Given the description of an element on the screen output the (x, y) to click on. 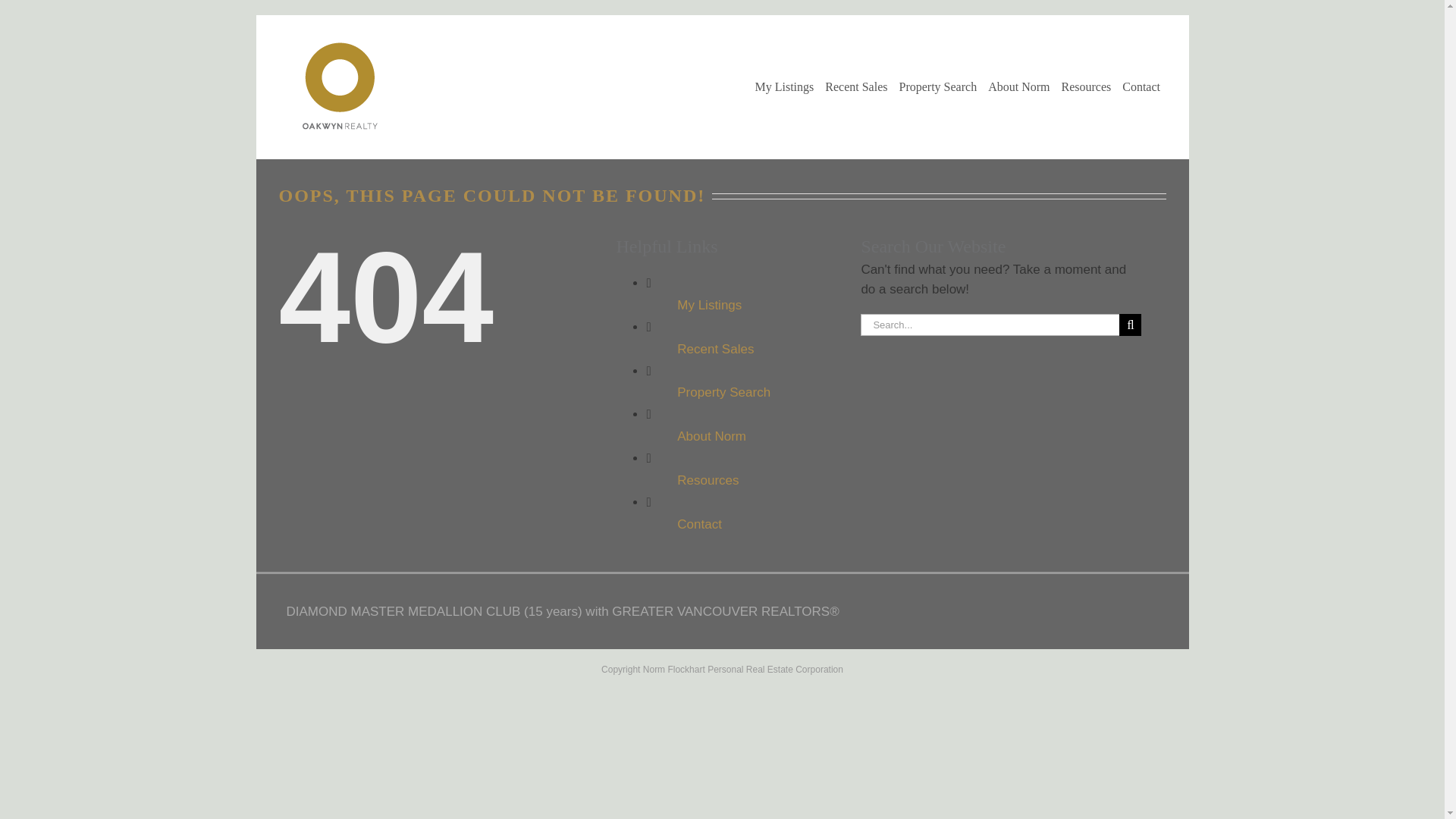
Contact (699, 523)
Recent Sales (715, 349)
My Listings (709, 305)
Property Search (723, 391)
About Norm (711, 436)
Resources (707, 480)
